Given the description of an element on the screen output the (x, y) to click on. 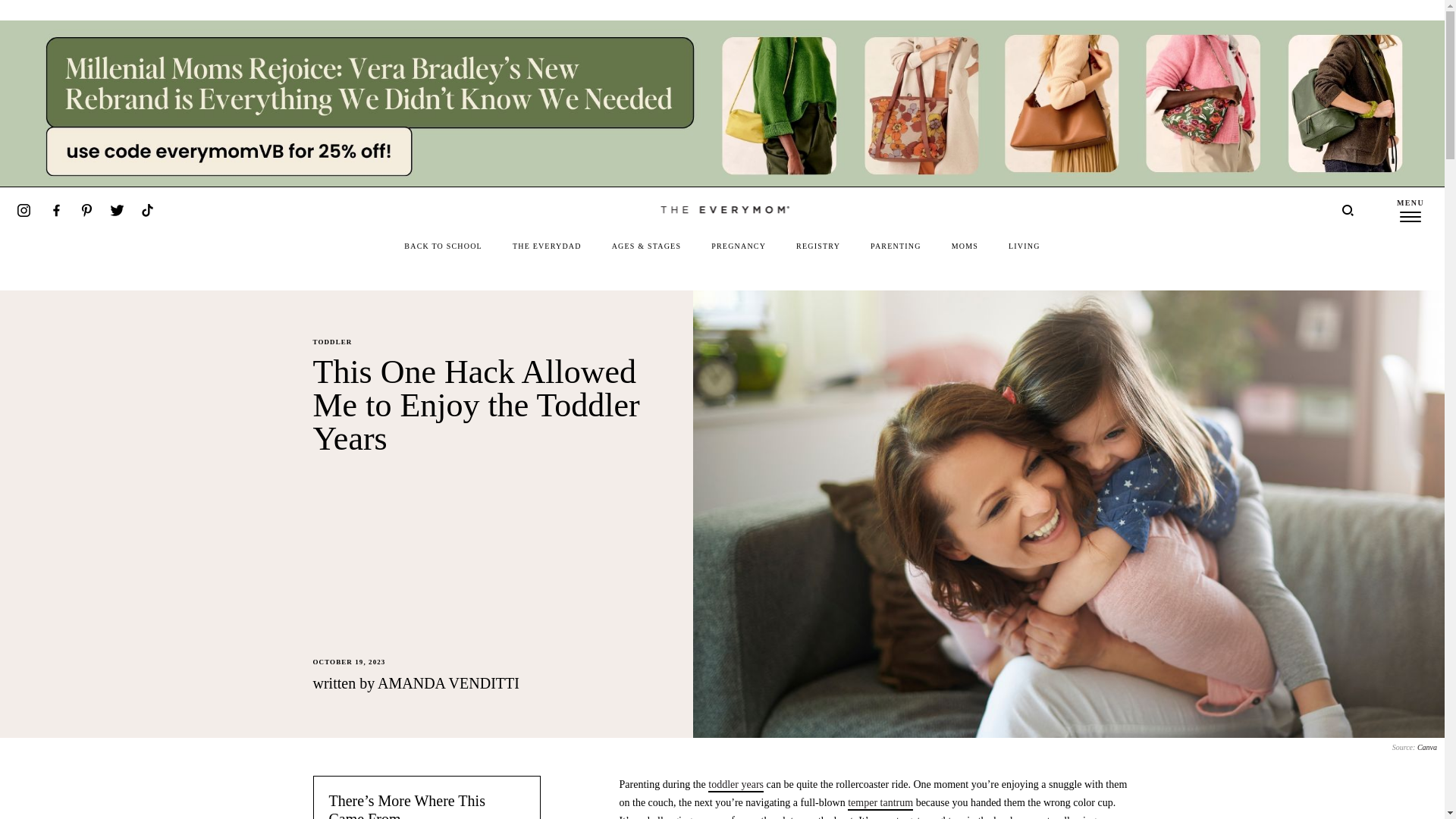
PREGNANCY (738, 245)
BACK TO SCHOOL (442, 245)
REGISTRY (818, 245)
THE EVERYDAD (546, 245)
Instagram (23, 210)
The Everymom (721, 209)
